Given the description of an element on the screen output the (x, y) to click on. 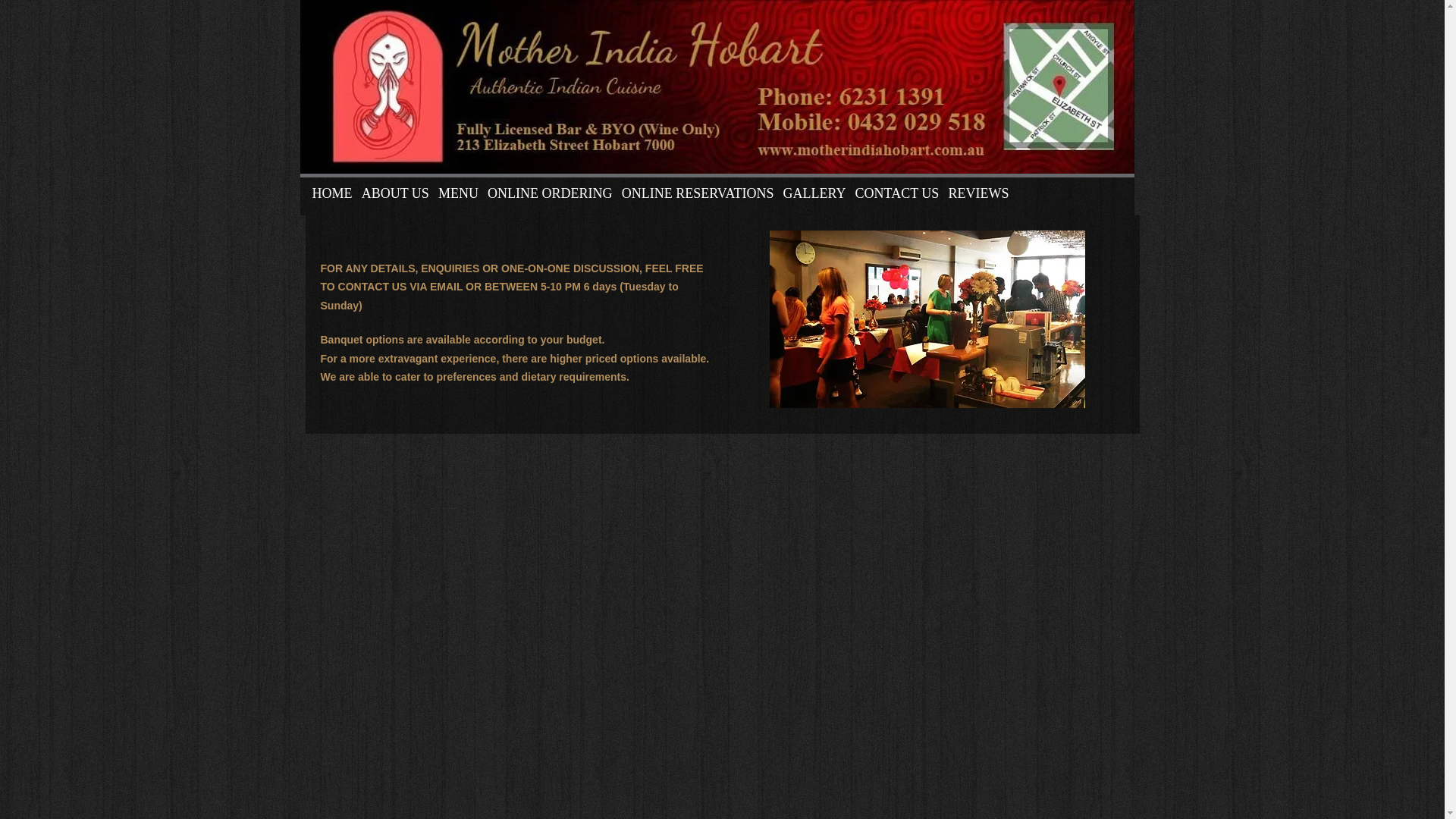
REVIEWS Element type: text (978, 193)
HOME Element type: text (332, 193)
MENU Element type: text (458, 193)
ONLINE ORDERING Element type: text (550, 193)
ABOUT US Element type: text (395, 193)
CONTACT US Element type: text (897, 193)
GALLERY Element type: text (814, 193)
ONLINE RESERVATIONS Element type: text (697, 193)
